Given the description of an element on the screen output the (x, y) to click on. 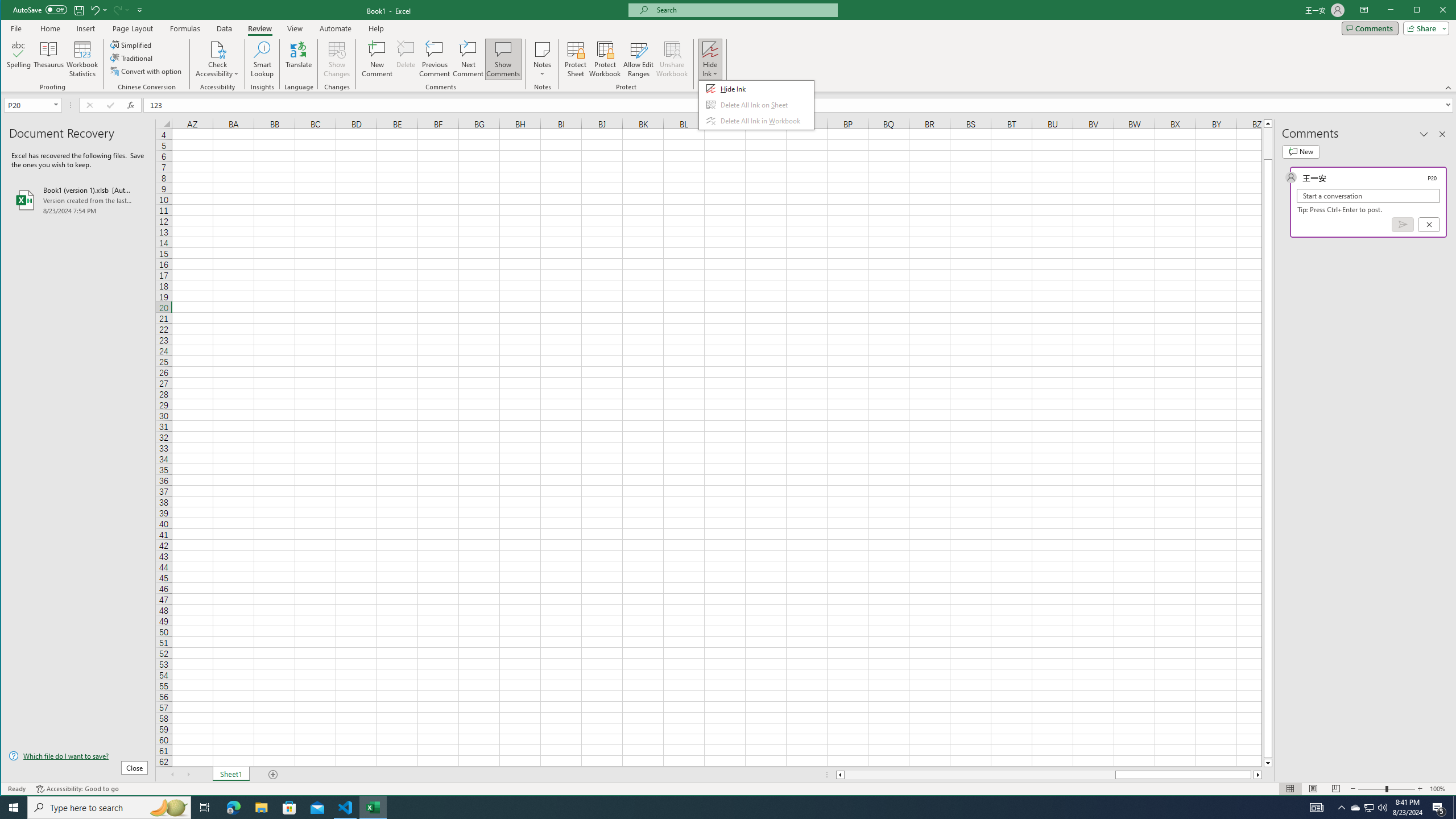
Next Comment (467, 59)
Start a conversation (1368, 195)
Previous Comment (434, 59)
